Given the description of an element on the screen output the (x, y) to click on. 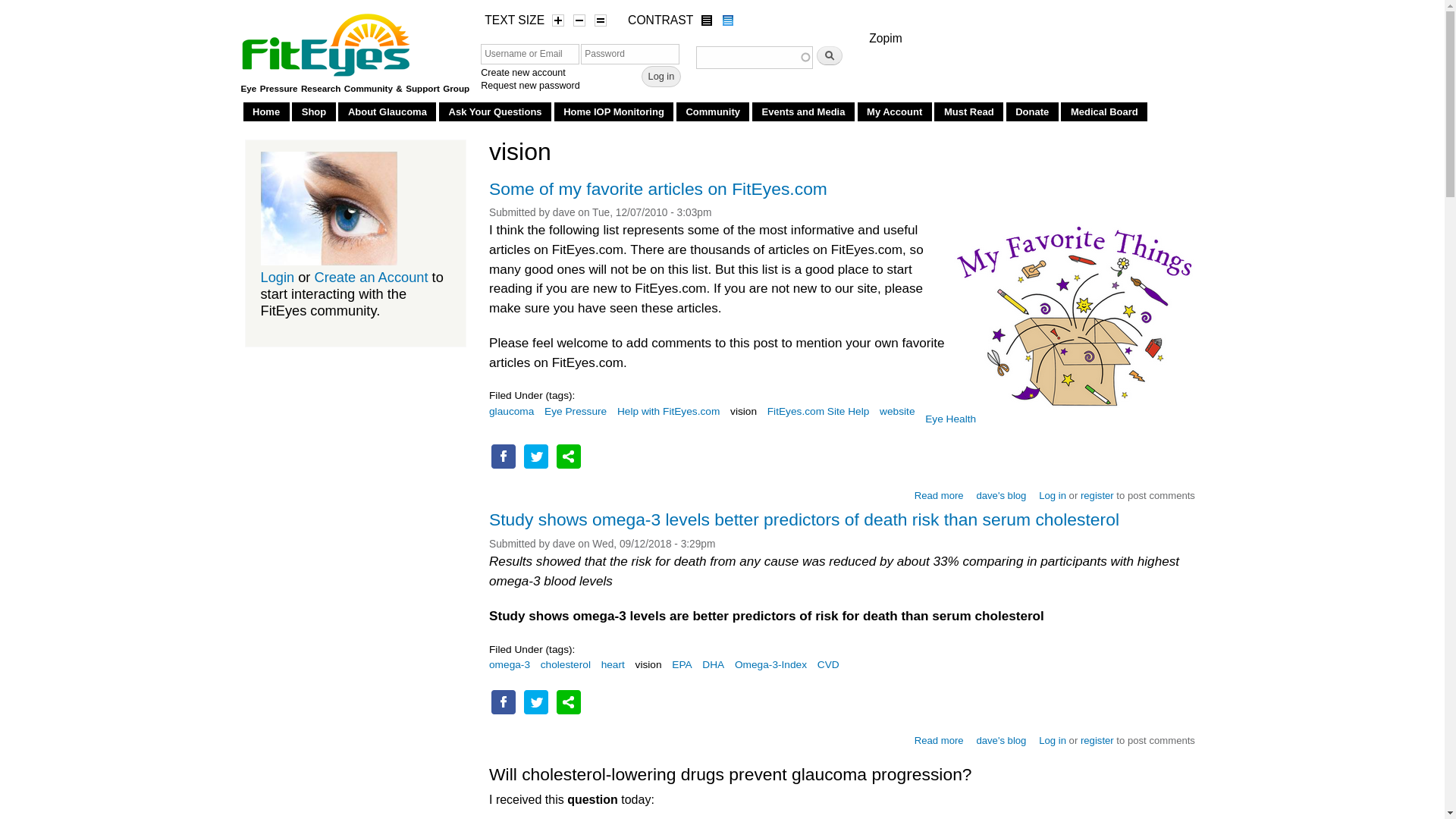
Search (829, 54)
Home (265, 111)
Create new account (523, 72)
Request new password via e-mail. (529, 85)
Page Style: Standard (727, 20)
Log in (661, 76)
Skip to main content (684, 1)
Enter the terms you wish to search for. (753, 56)
Log in (661, 76)
Search (829, 54)
Request new password (529, 85)
Home (327, 40)
Home (265, 111)
Create a new user account. (523, 72)
